Given the description of an element on the screen output the (x, y) to click on. 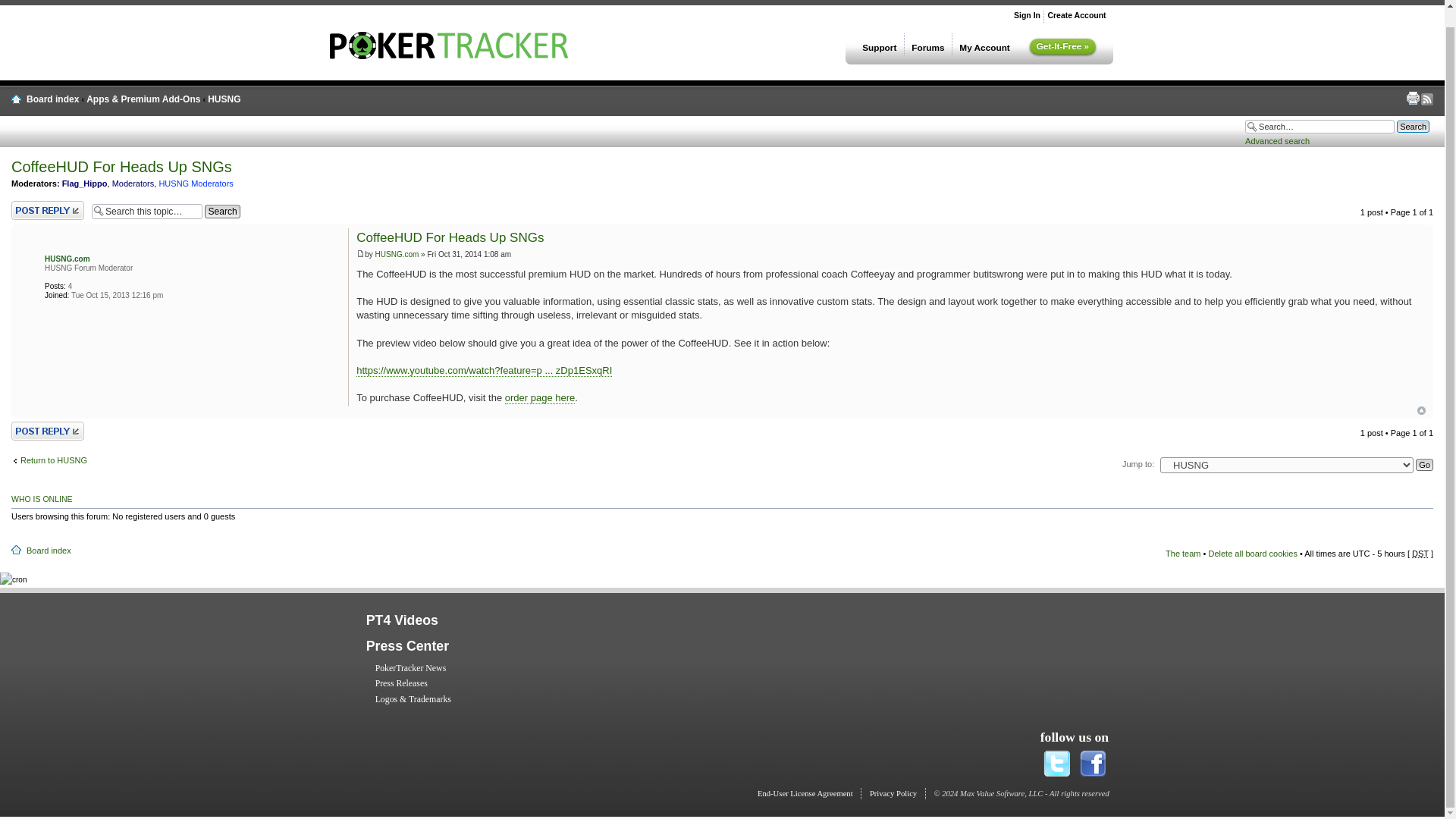
order page here (540, 398)
The team (1182, 552)
Go (1423, 464)
Top (1420, 410)
Home (448, 55)
Board index (52, 99)
Sign In (1027, 14)
Post a reply (47, 430)
Post a reply (47, 210)
Post a reply (47, 210)
WHO IS ONLINE (41, 498)
Forums (927, 44)
Return to HUSNG (49, 460)
My Account (983, 44)
Top (1420, 410)
